Given the description of an element on the screen output the (x, y) to click on. 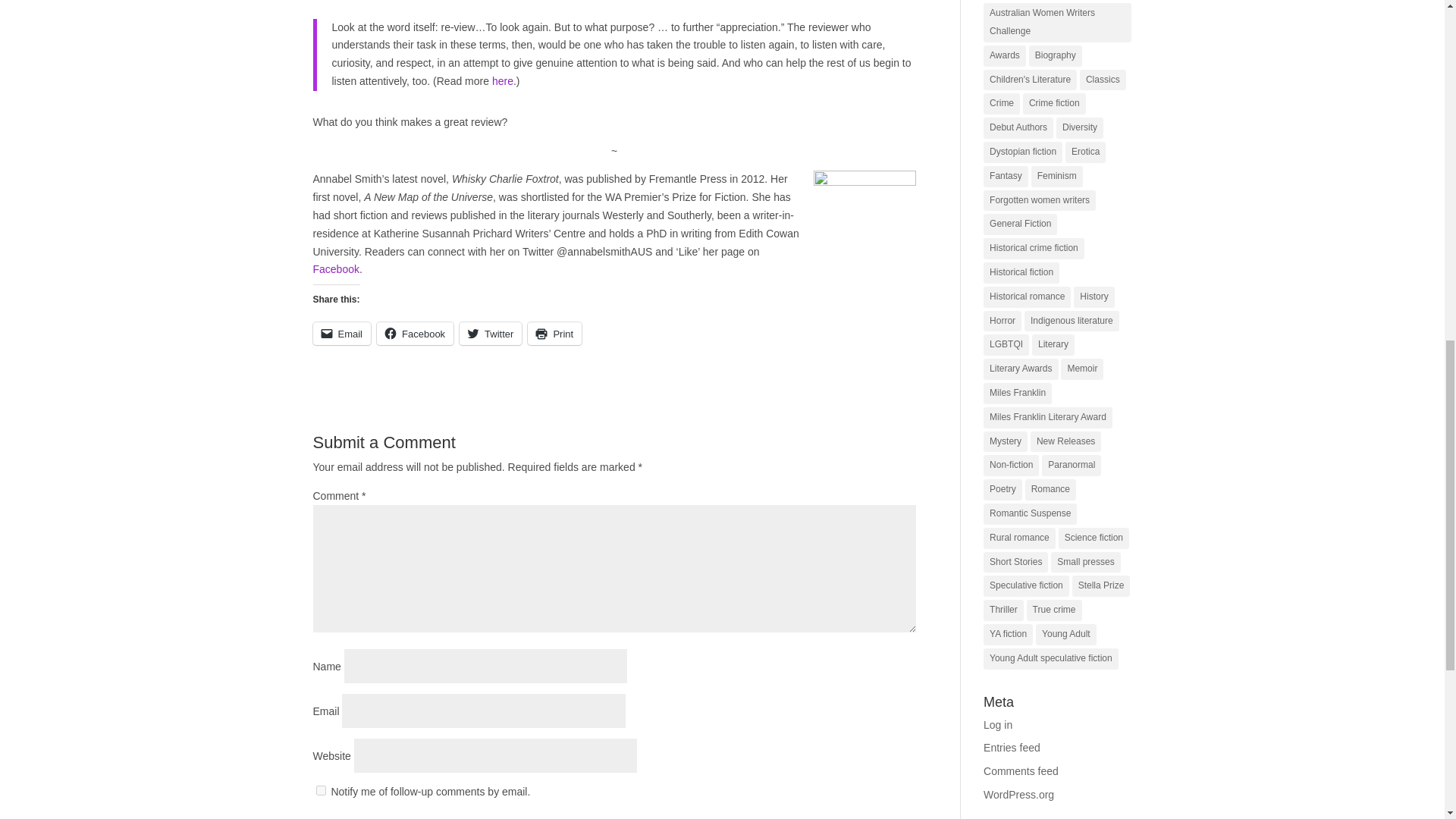
Click to print (553, 333)
Print (553, 333)
Click to email a link to a friend (342, 333)
Facebook (414, 333)
Facebook (335, 268)
Annabel-smith2 (864, 227)
here (502, 80)
Click to share on Twitter (490, 333)
Twitter (490, 333)
subscribe (319, 790)
